Given the description of an element on the screen output the (x, y) to click on. 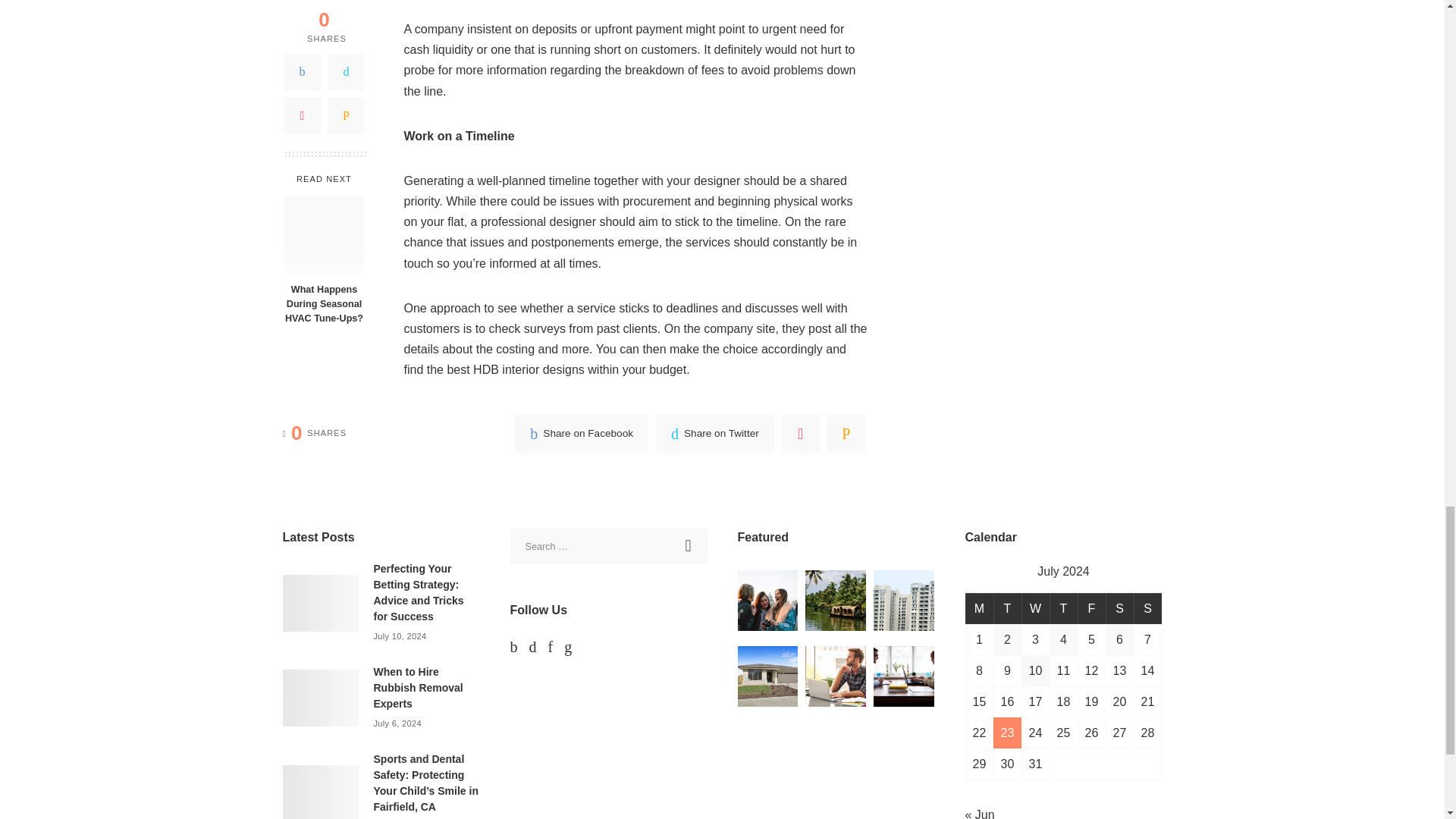
Search (688, 545)
Search (688, 545)
